Given the description of an element on the screen output the (x, y) to click on. 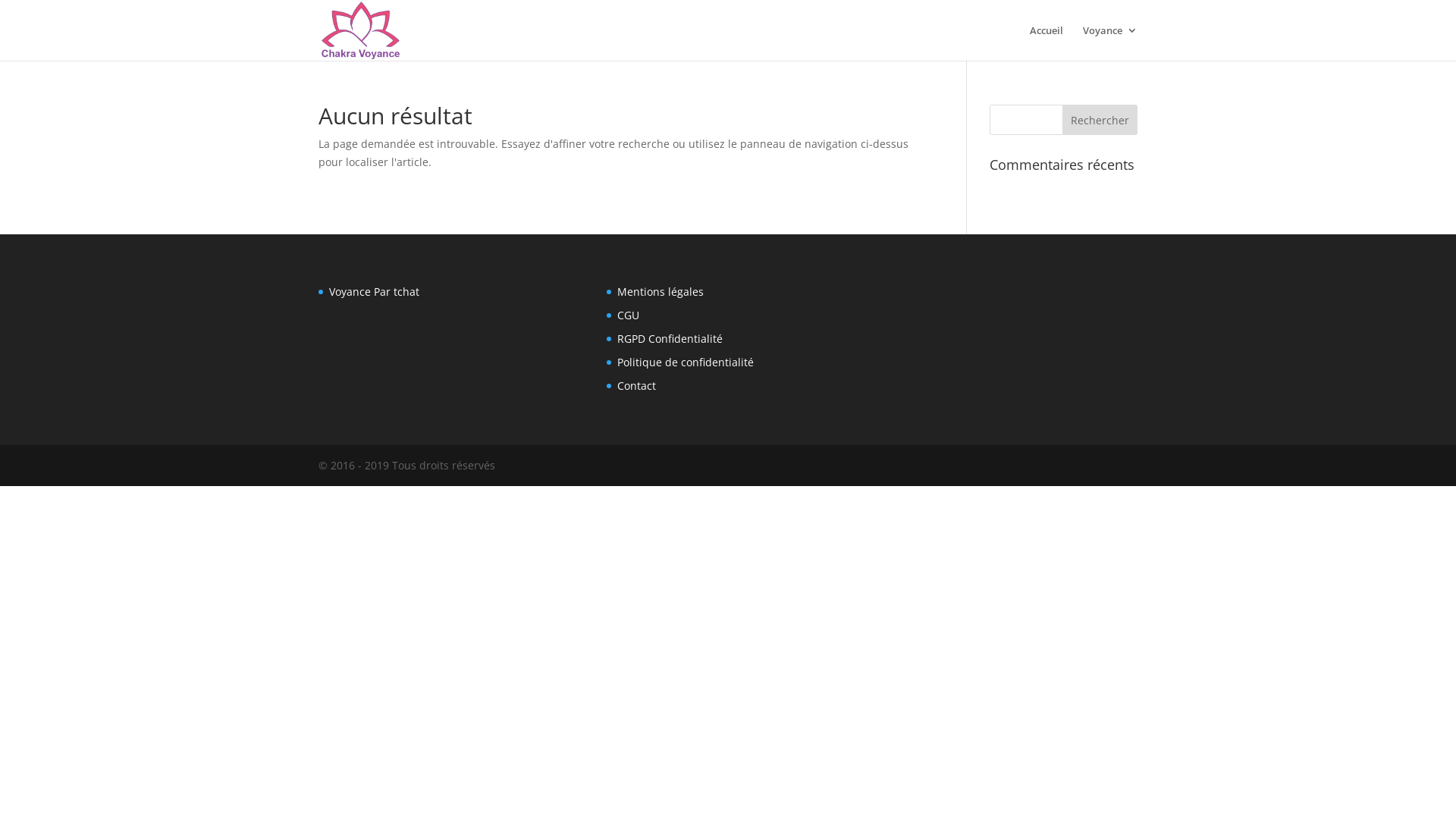
Rechercher Element type: text (1099, 119)
Voyance Element type: text (1109, 42)
Voyance Par tchat Element type: text (374, 291)
Accueil Element type: text (1046, 42)
CGU Element type: text (628, 314)
Contact Element type: text (636, 385)
